Given the description of an element on the screen output the (x, y) to click on. 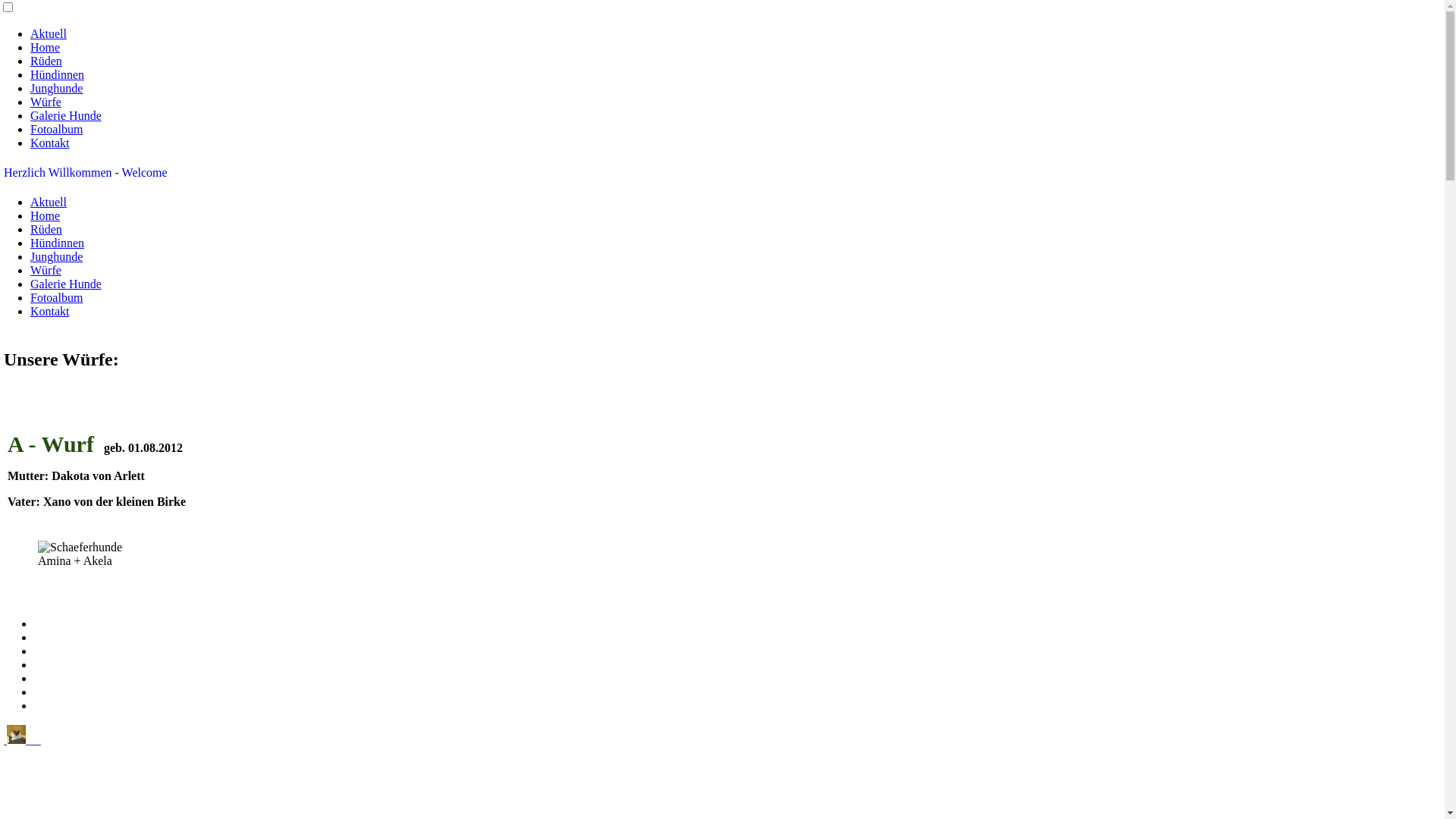
Junghunde Element type: text (56, 87)
Junghunde Element type: text (56, 256)
Home Element type: text (44, 215)
Home Element type: text (44, 46)
Kontakt Element type: text (49, 142)
Fotoalbum Element type: text (56, 297)
Fotoalbum Element type: text (56, 128)
Aktuell Element type: text (48, 33)
Herzlich Willkommen - Welcome Element type: text (85, 172)
Kontakt Element type: text (49, 310)
Aktuell Element type: text (48, 201)
Galerie Hunde Element type: text (65, 115)
Galerie Hunde Element type: text (65, 283)
